Given the description of an element on the screen output the (x, y) to click on. 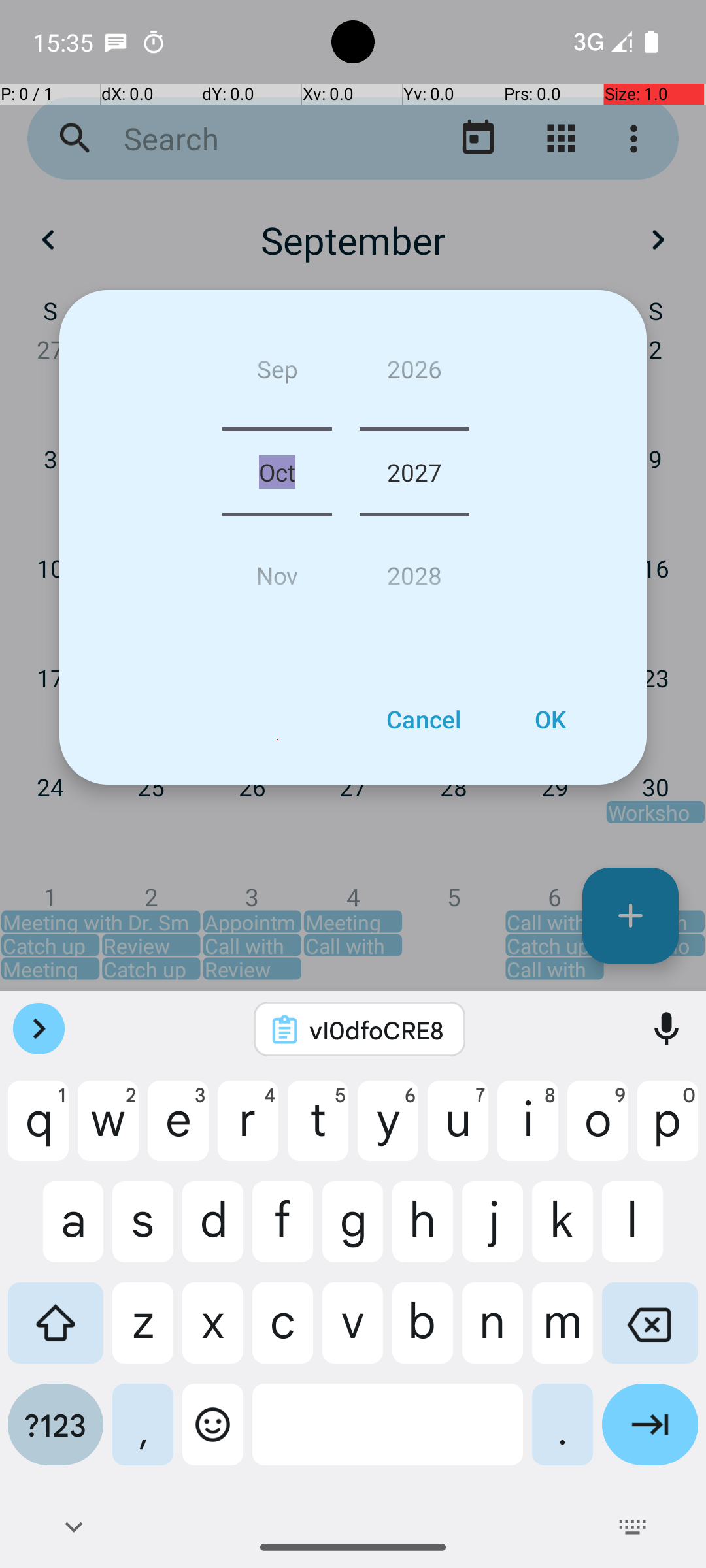
2027 Element type: android.widget.EditText (414, 471)
2028 Element type: android.widget.Button (414, 569)
vI0dfoCRE8 Element type: android.widget.TextView (376, 1029)
